Given the description of an element on the screen output the (x, y) to click on. 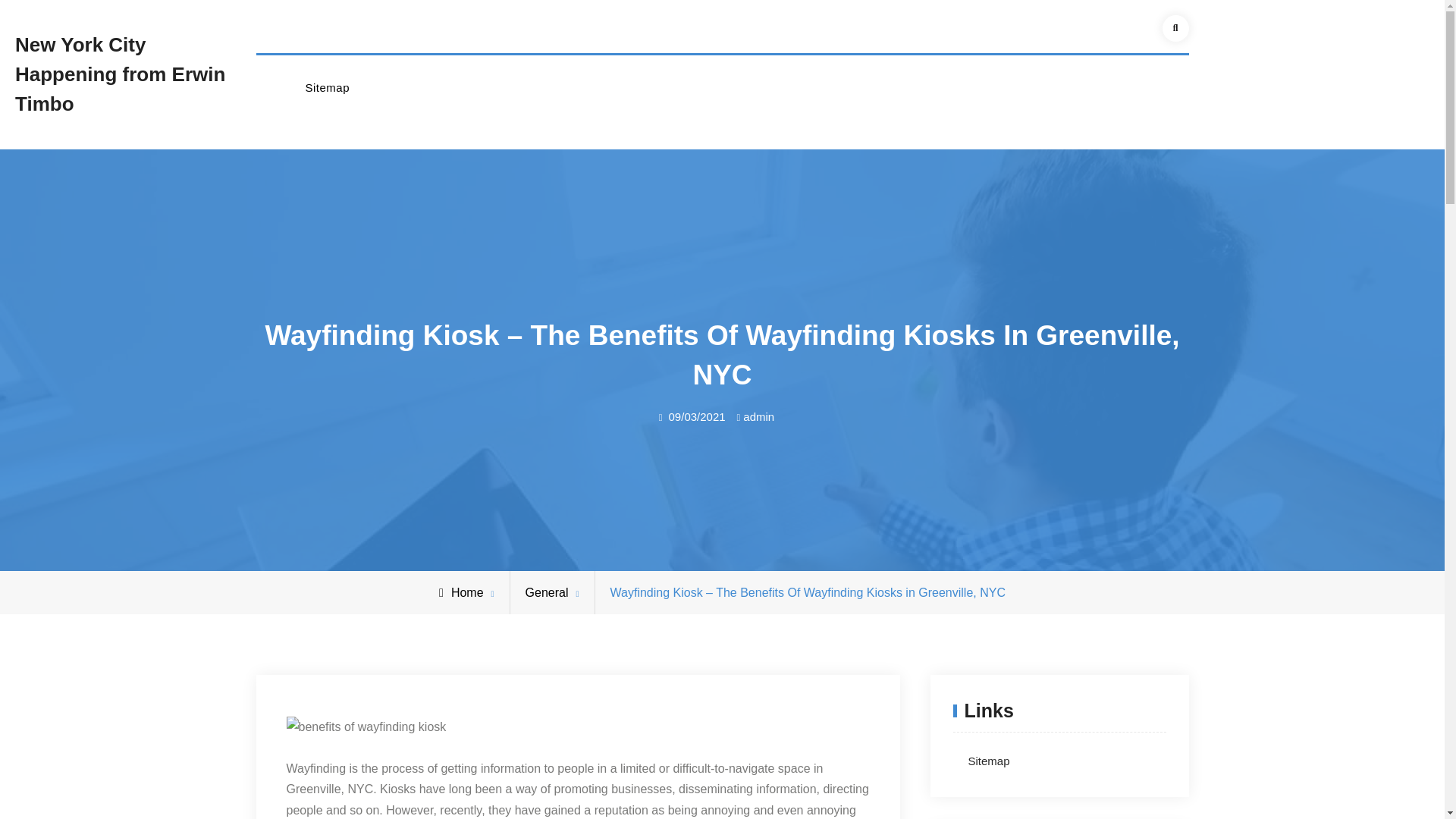
Search (1174, 28)
admin (758, 416)
Home (461, 592)
Sitemap (326, 87)
General (547, 592)
Sitemap (988, 760)
New York City Happening from Erwin Timbo (119, 74)
